Given the description of an element on the screen output the (x, y) to click on. 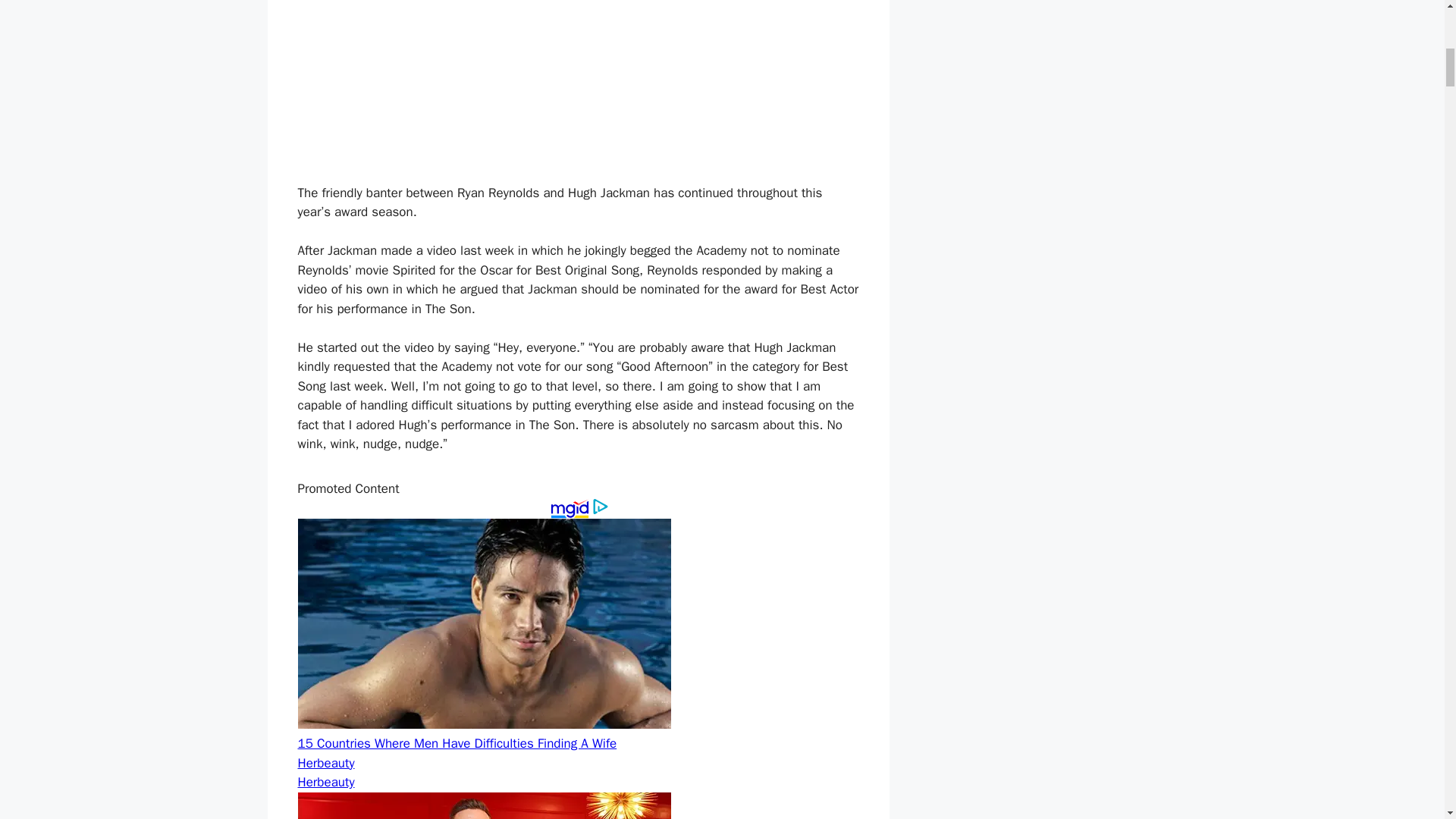
Advertisement (576, 85)
